Given the description of an element on the screen output the (x, y) to click on. 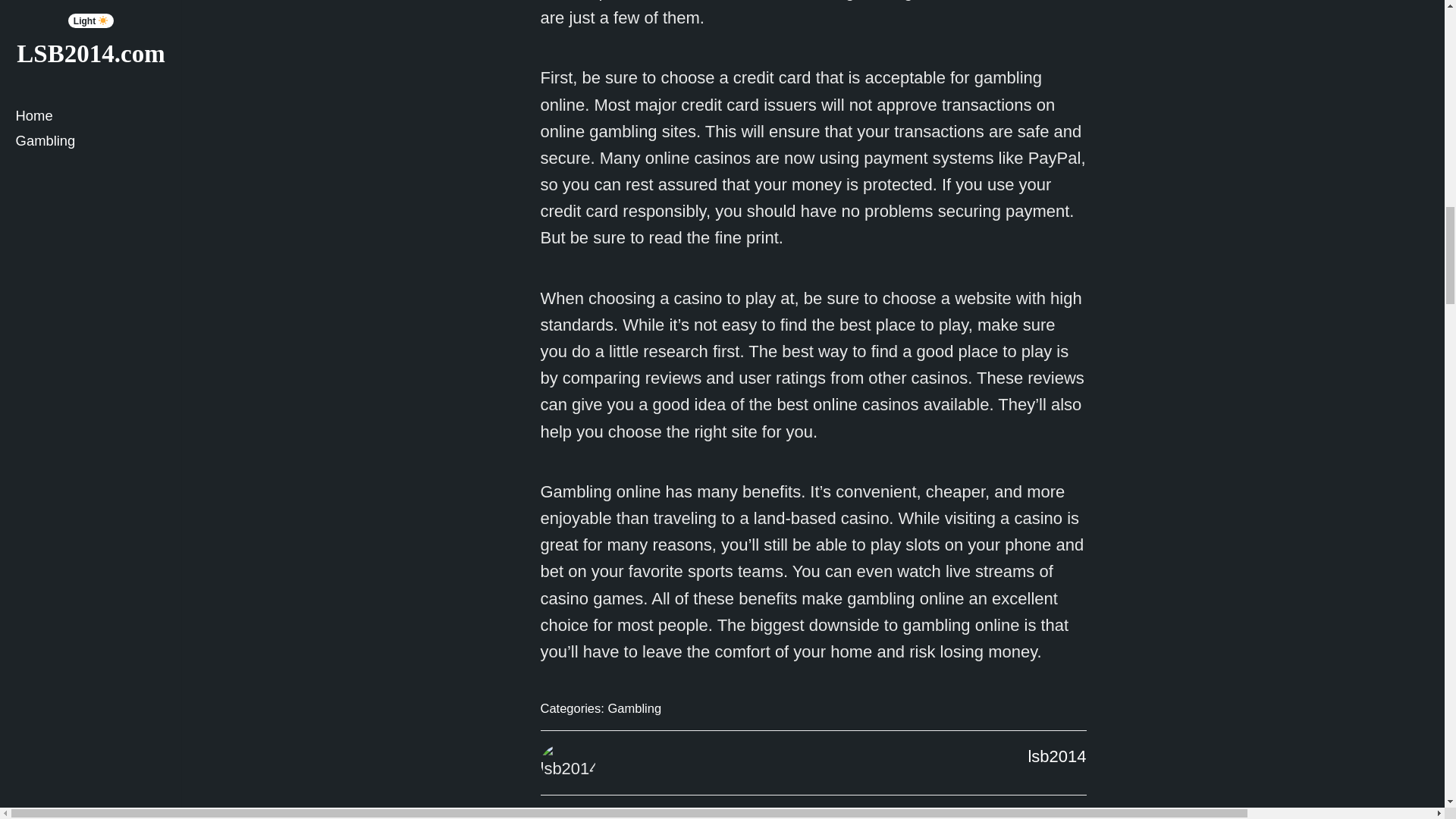
Gambling (634, 707)
lsb2014 (1056, 755)
